Given the description of an element on the screen output the (x, y) to click on. 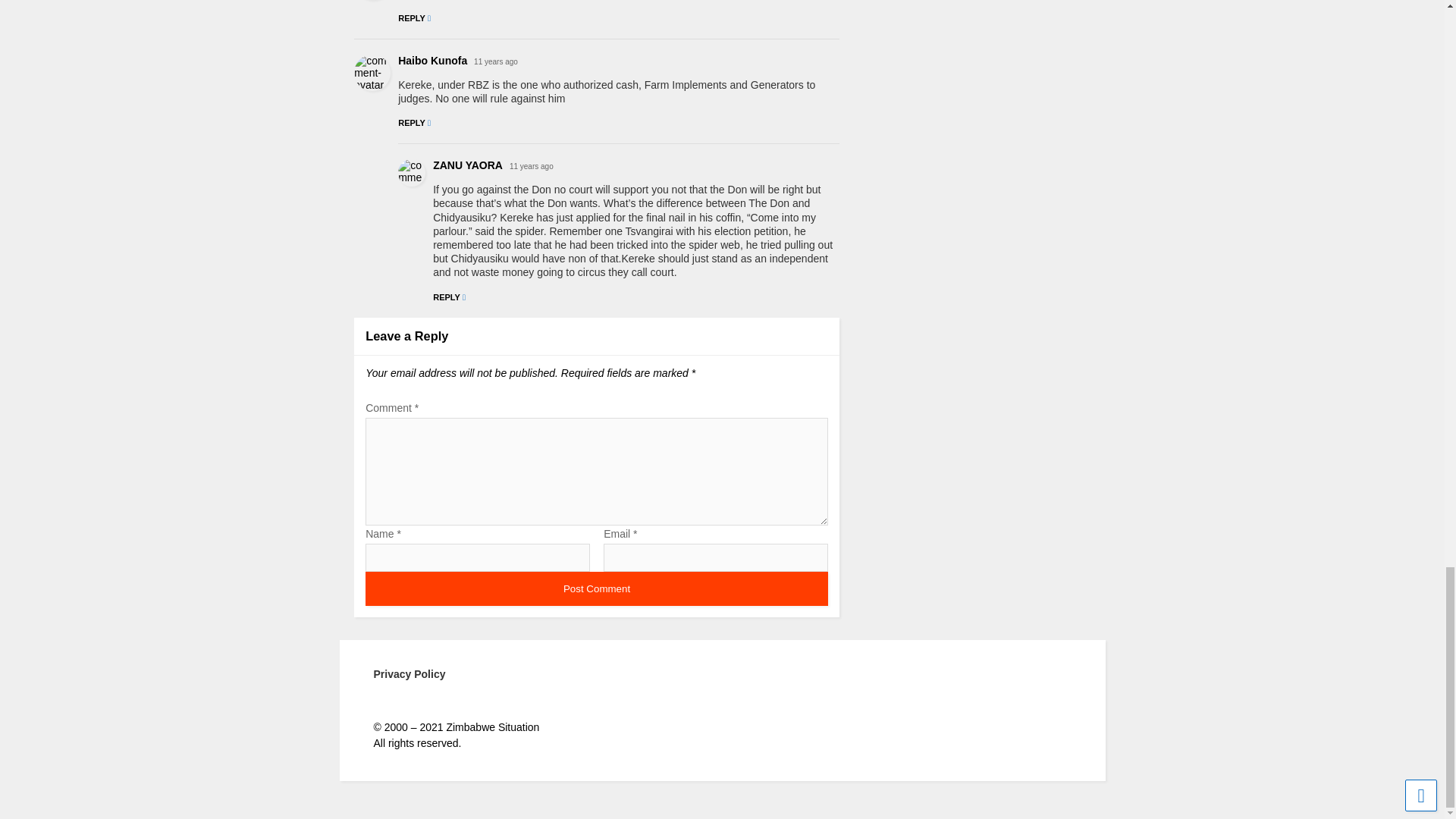
Post Comment (596, 588)
REPLY (413, 17)
